Given the description of an element on the screen output the (x, y) to click on. 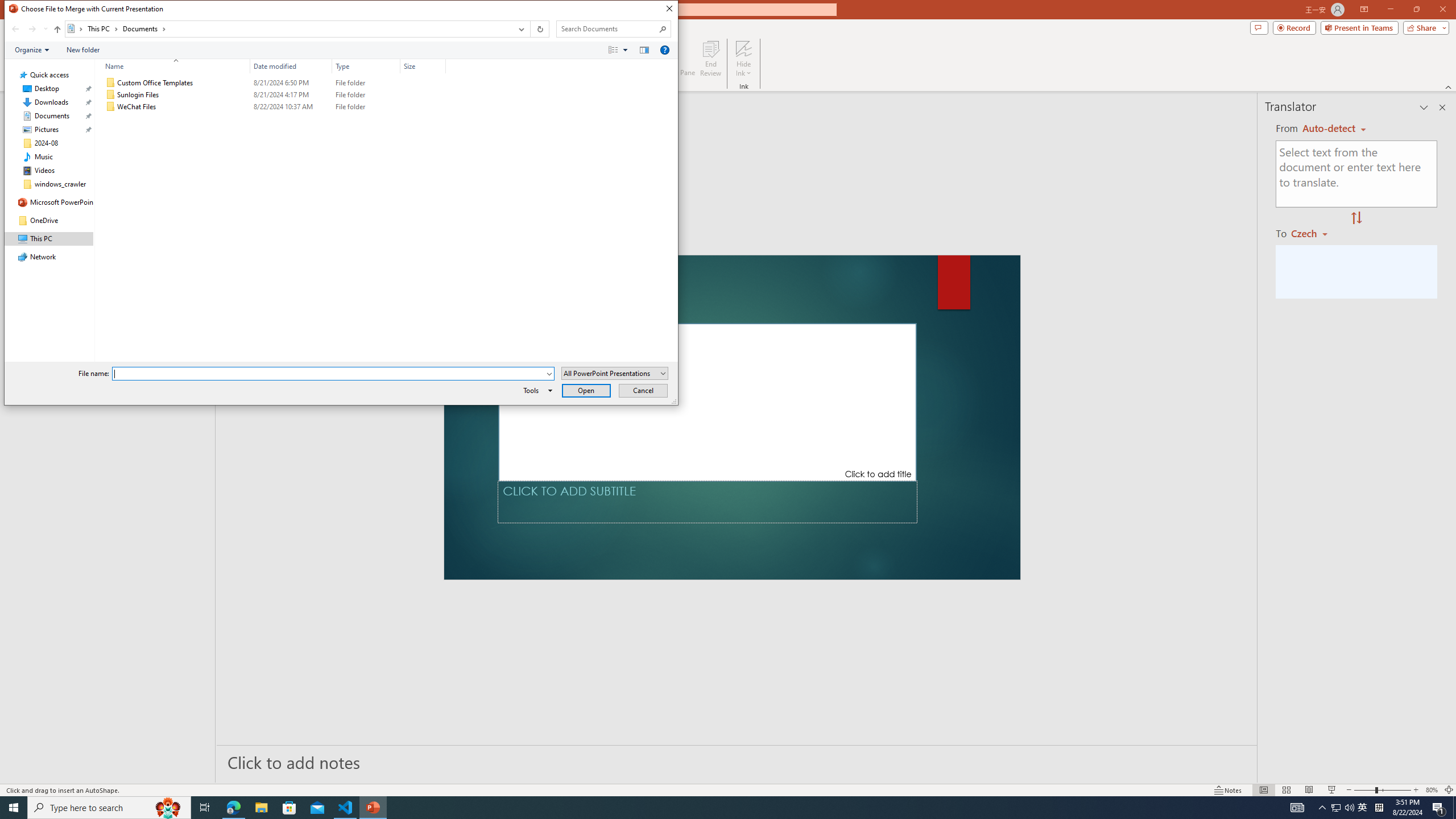
Size (422, 65)
English (1334, 128)
Previous Locations (520, 28)
Up band toolbar (57, 30)
Class: UIImage (111, 106)
